Given the description of an element on the screen output the (x, y) to click on. 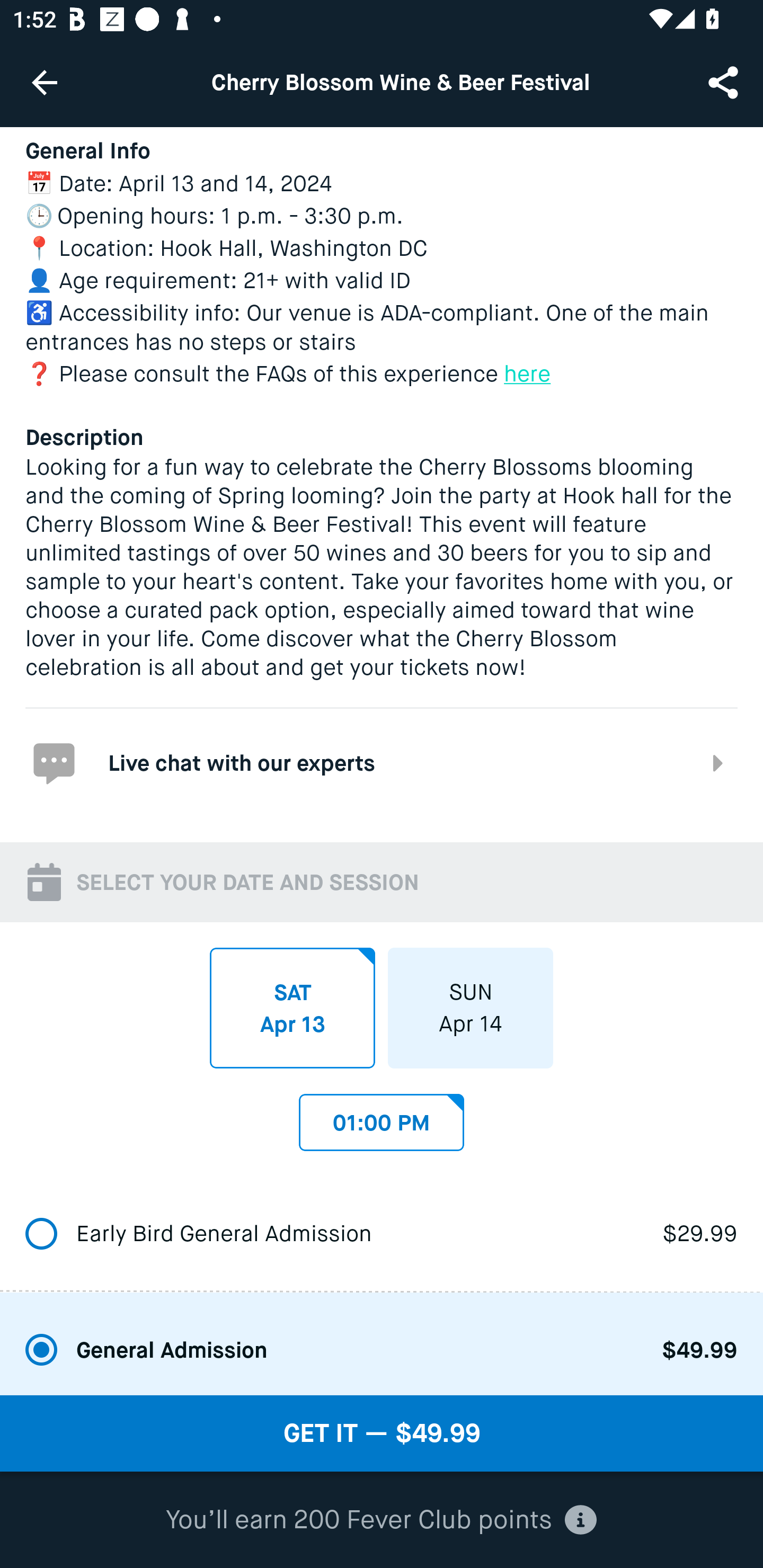
Navigate up (44, 82)
Share (724, 81)
Live chat with our experts (381, 761)
SAT
Apr 13 (292, 1007)
SUN
Apr 14 (470, 1007)
01:00 PM (381, 1117)
Early Bird General Admission $29.99 (381, 1234)
General Admission $49.99 (381, 1343)
GET IT — $49.99 (381, 1433)
You’ll earn 200 Fever Club points (380, 1519)
